Given the description of an element on the screen output the (x, y) to click on. 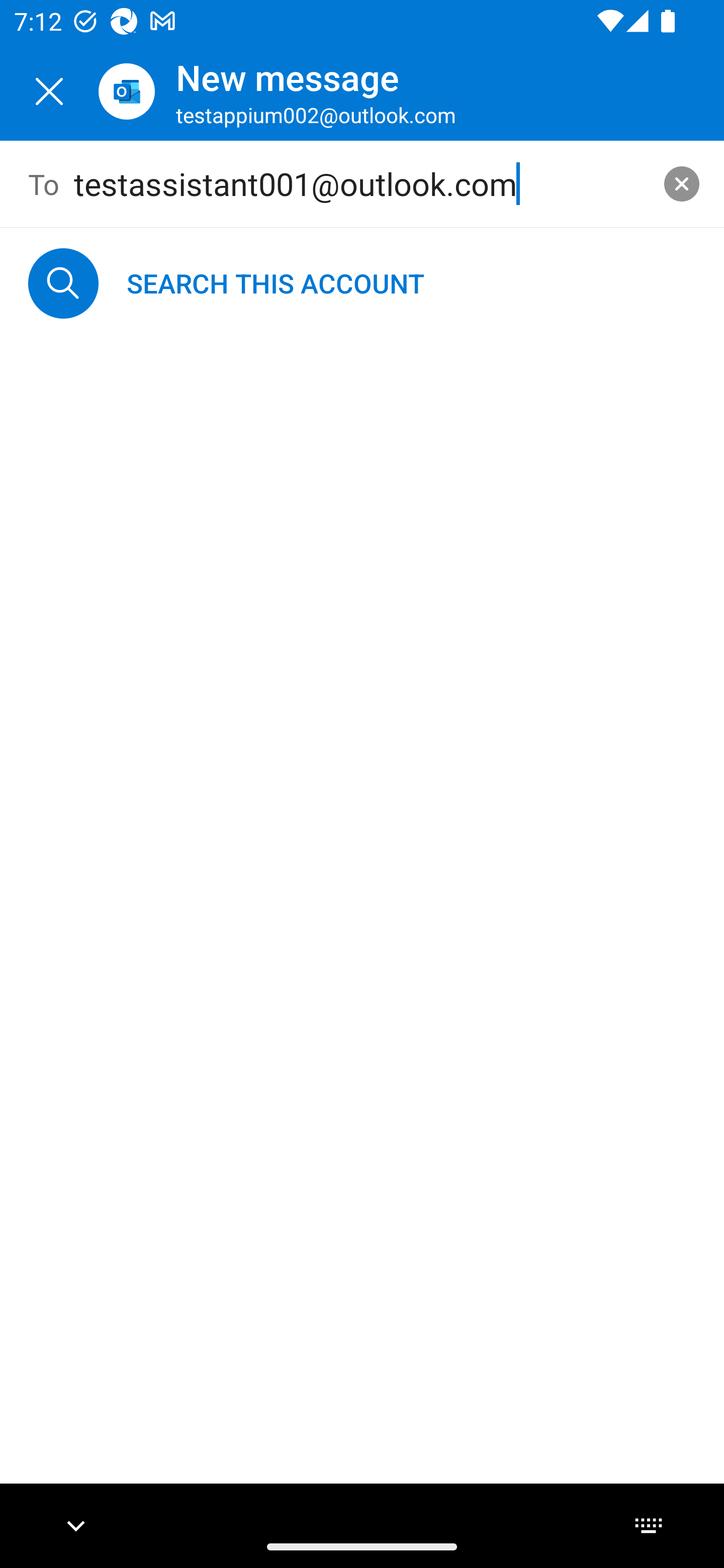
Close (49, 91)
testassistant001@outlook.com (362, 184)
clear search (681, 183)
